Given the description of an element on the screen output the (x, y) to click on. 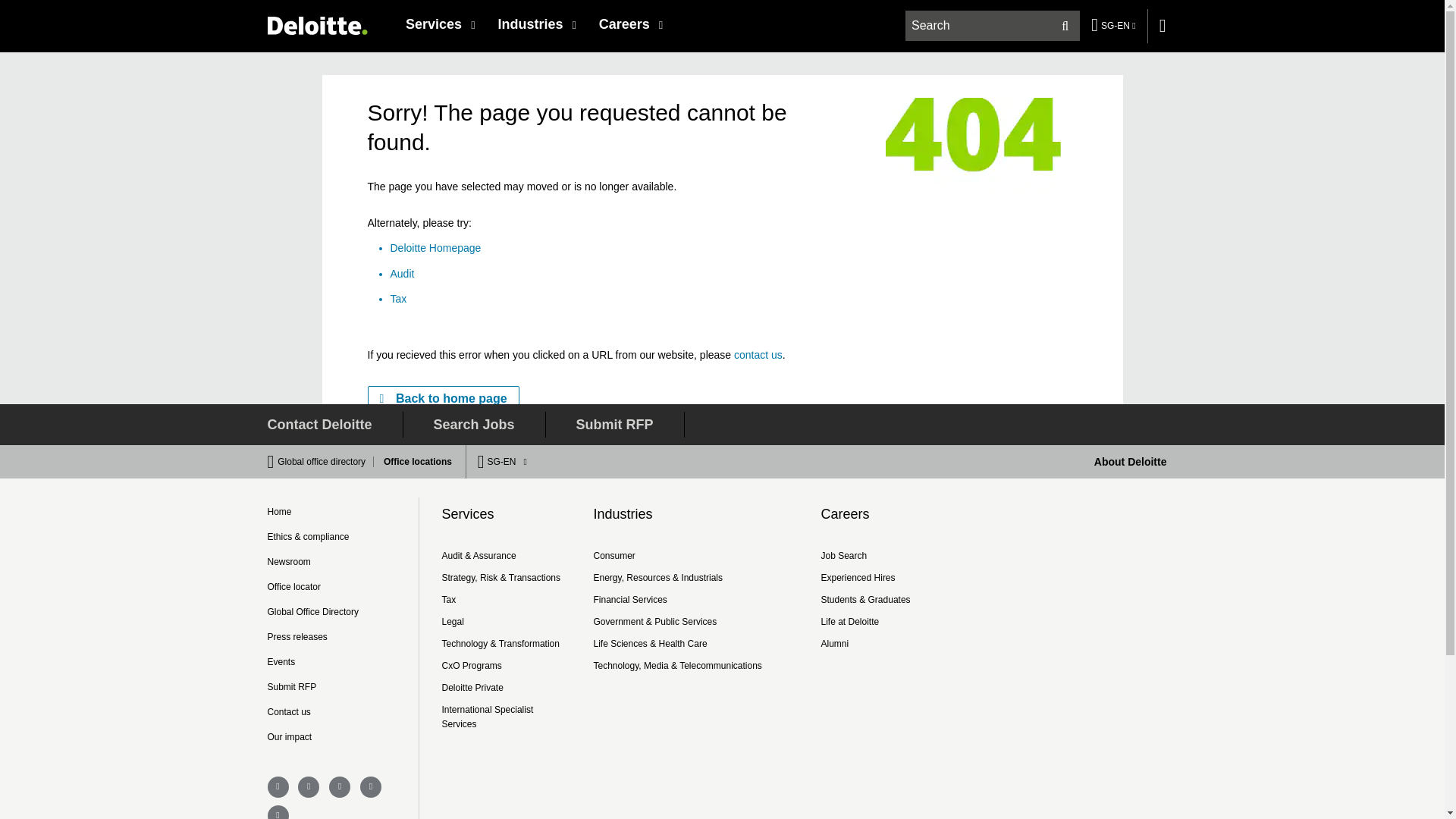
Services (440, 24)
Global office directory (326, 461)
Office locations (413, 461)
twitter (308, 786)
Deloitte Singapore (316, 25)
linkedin (339, 786)
instagram (370, 786)
Search (1064, 25)
youtube (277, 812)
facebook (277, 786)
